Given the description of an element on the screen output the (x, y) to click on. 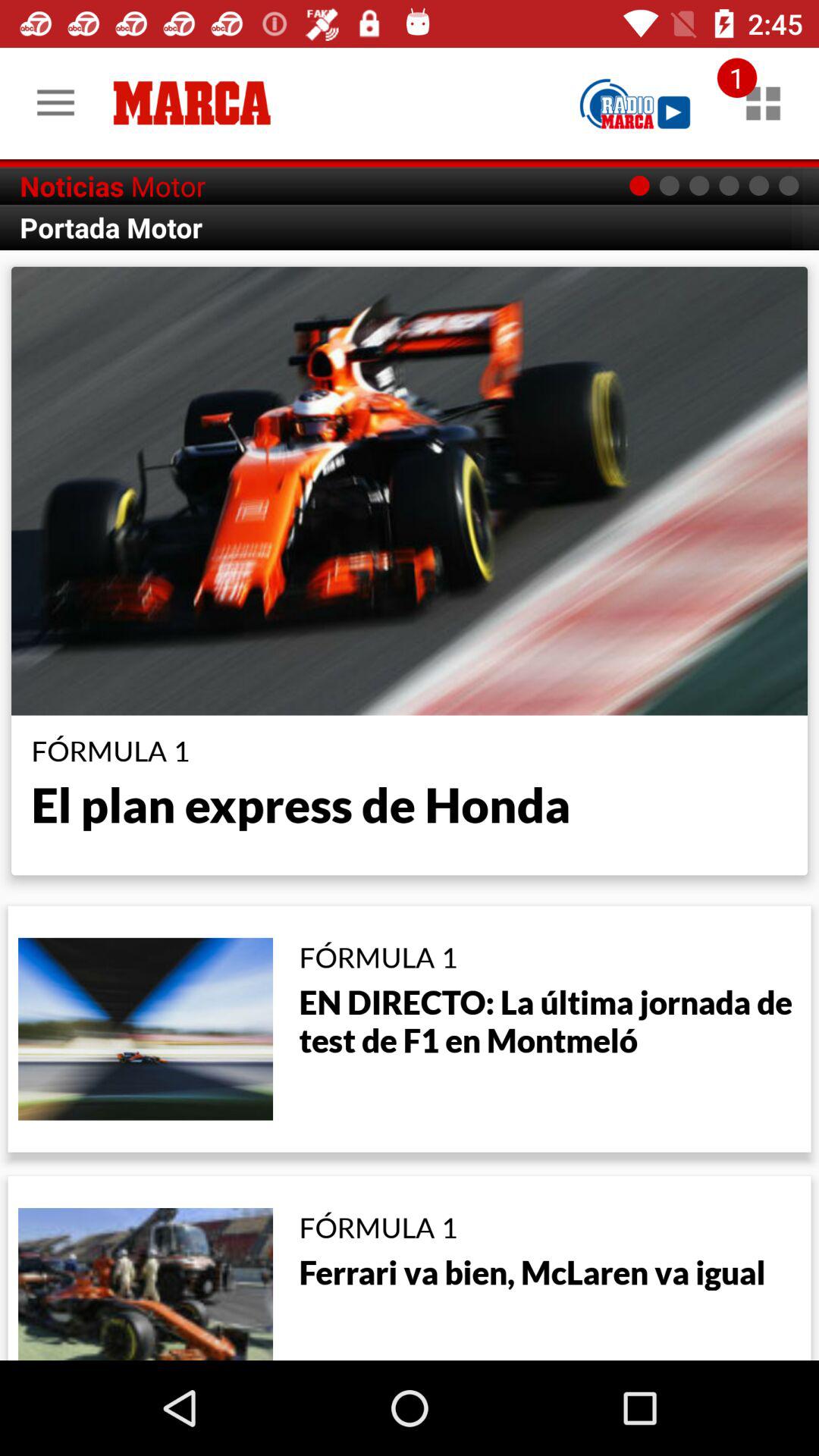
go to menu (763, 103)
